Given the description of an element on the screen output the (x, y) to click on. 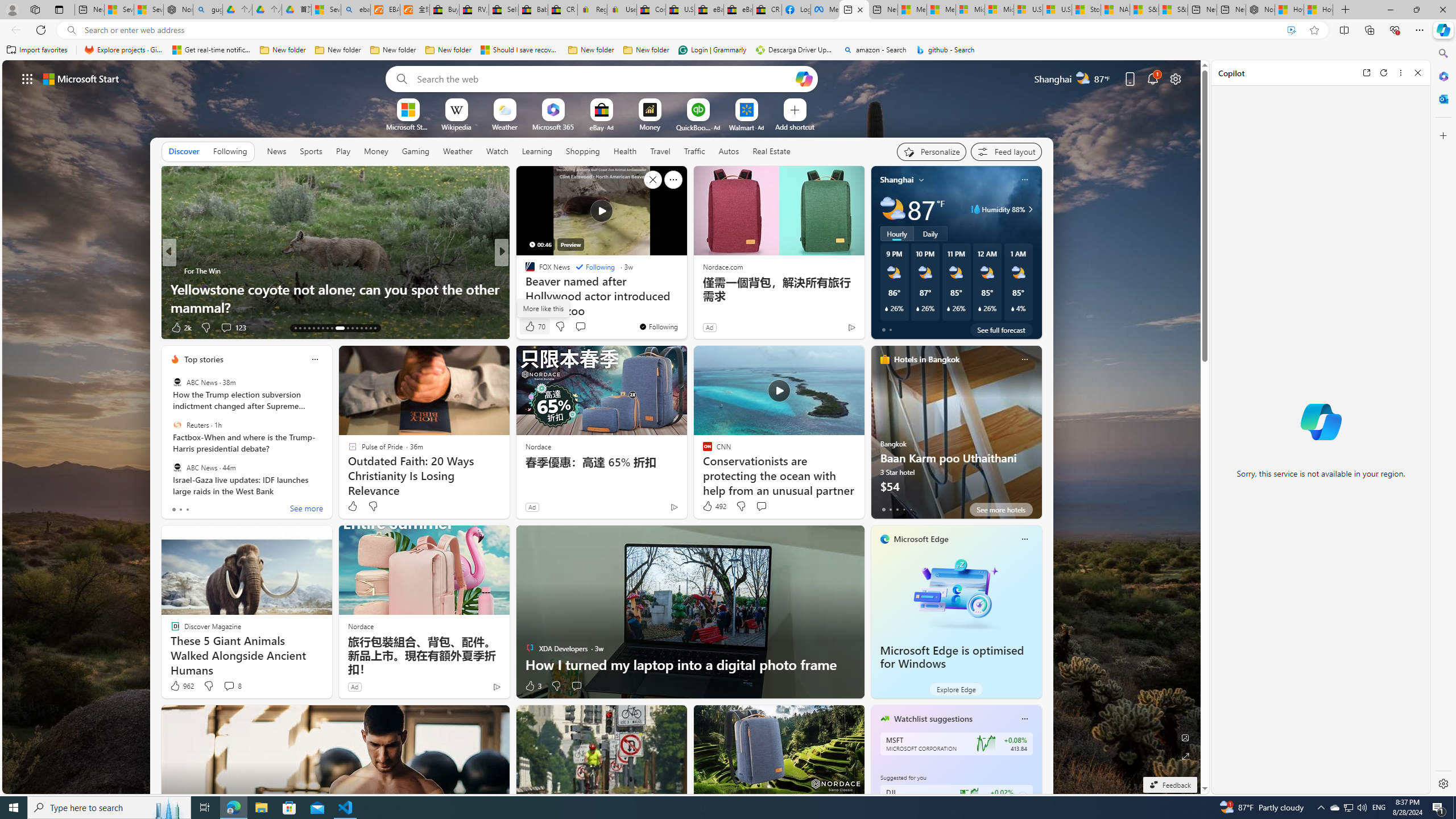
Log into Facebook (796, 9)
View comments 8 Comment (228, 685)
tab-0 (882, 509)
Feed settings (1005, 151)
guge yunpan - Search (207, 9)
Edit Background (1185, 737)
View comments 24 Comment (585, 327)
Enter your search term (603, 78)
S&P 500, Nasdaq end lower, weighed by Nvidia dip | Watch (1173, 9)
